Given the description of an element on the screen output the (x, y) to click on. 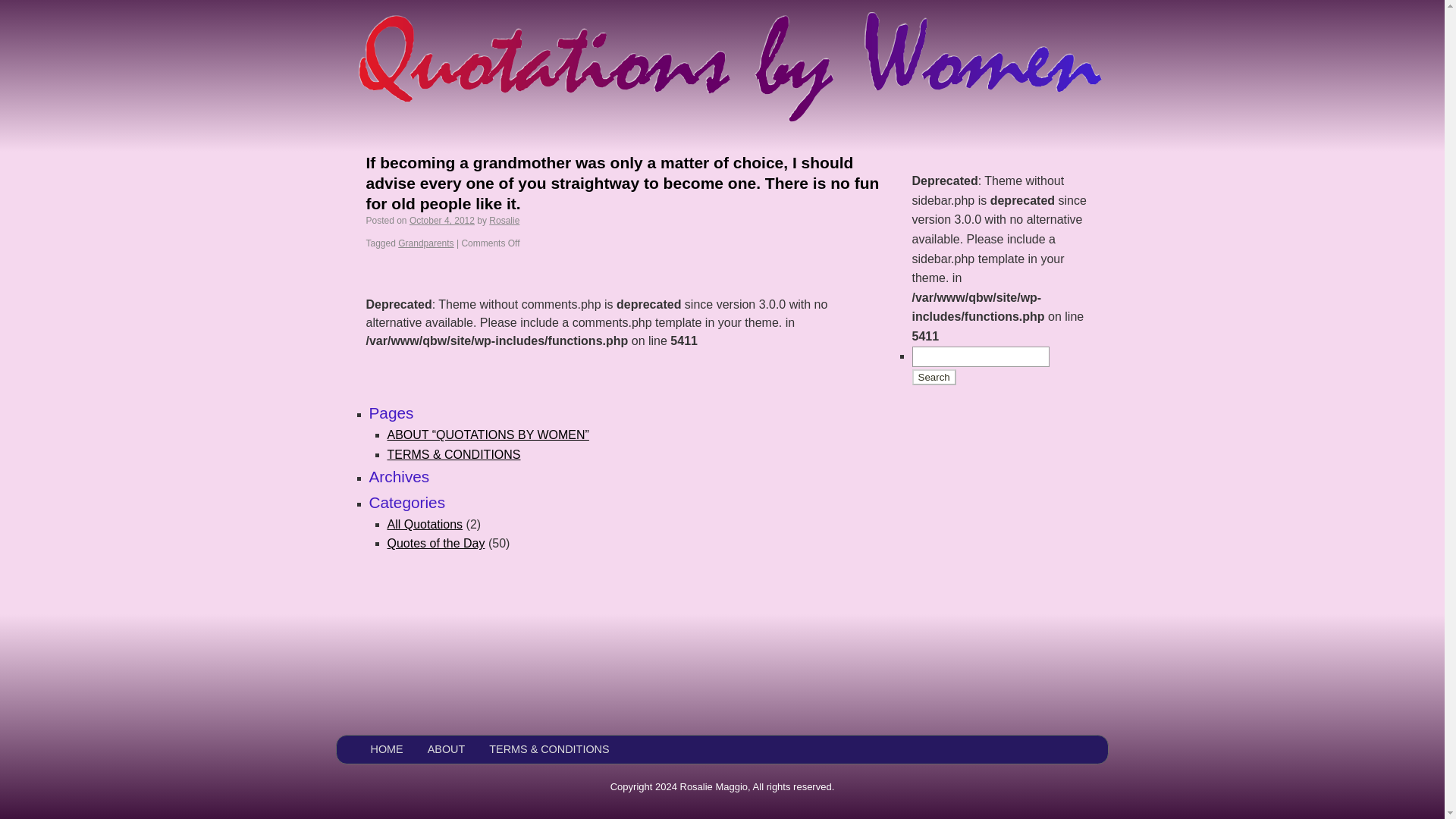
Search (933, 376)
Quotes of the Day (435, 543)
All Quotations (425, 523)
Search (933, 376)
ABOUT (446, 748)
October 4, 2012 (441, 220)
Grandparents (424, 243)
HOME (386, 748)
